Given the description of an element on the screen output the (x, y) to click on. 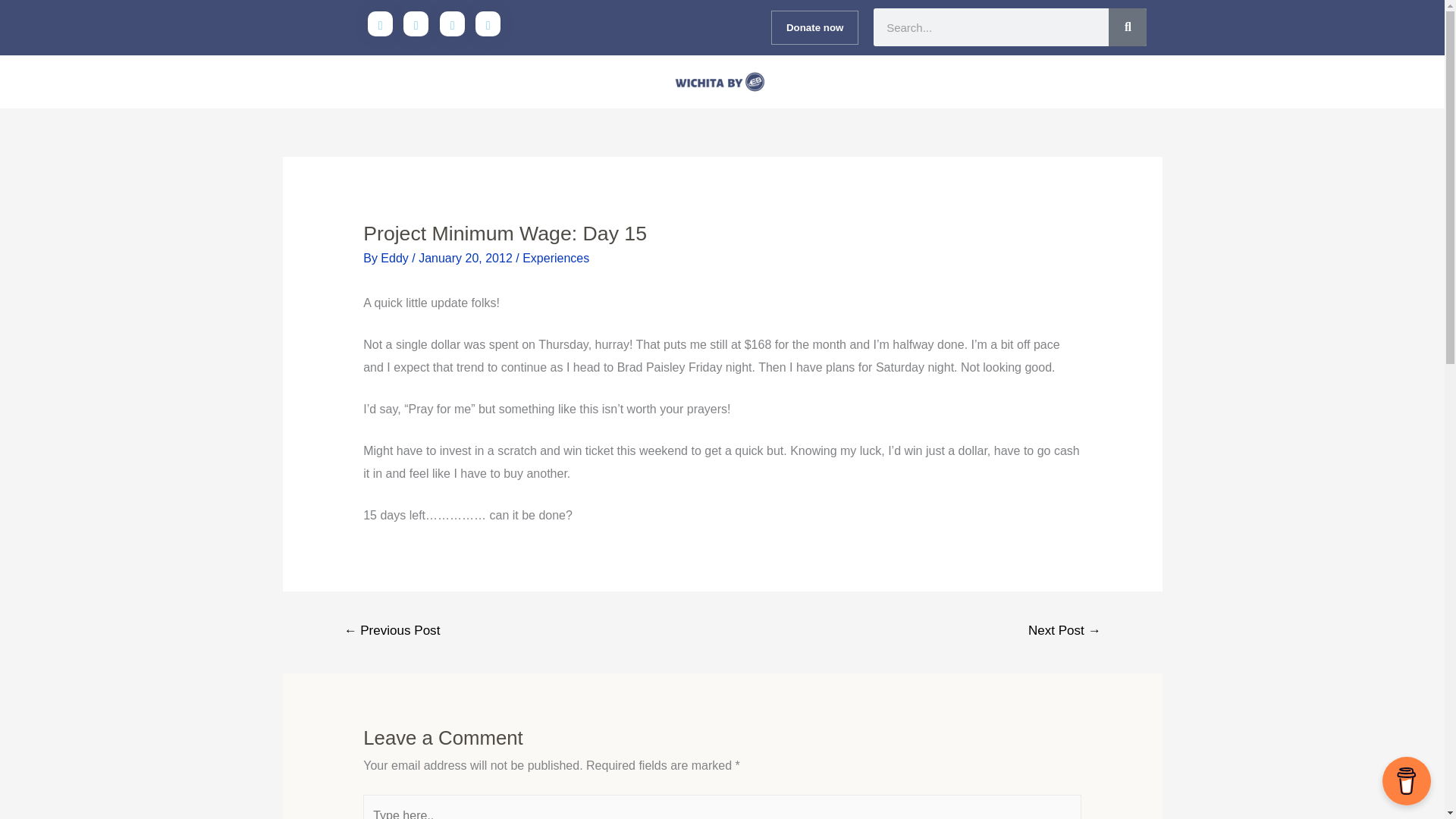
View all posts by Eddy (396, 257)
Donate now (815, 27)
